Given the description of an element on the screen output the (x, y) to click on. 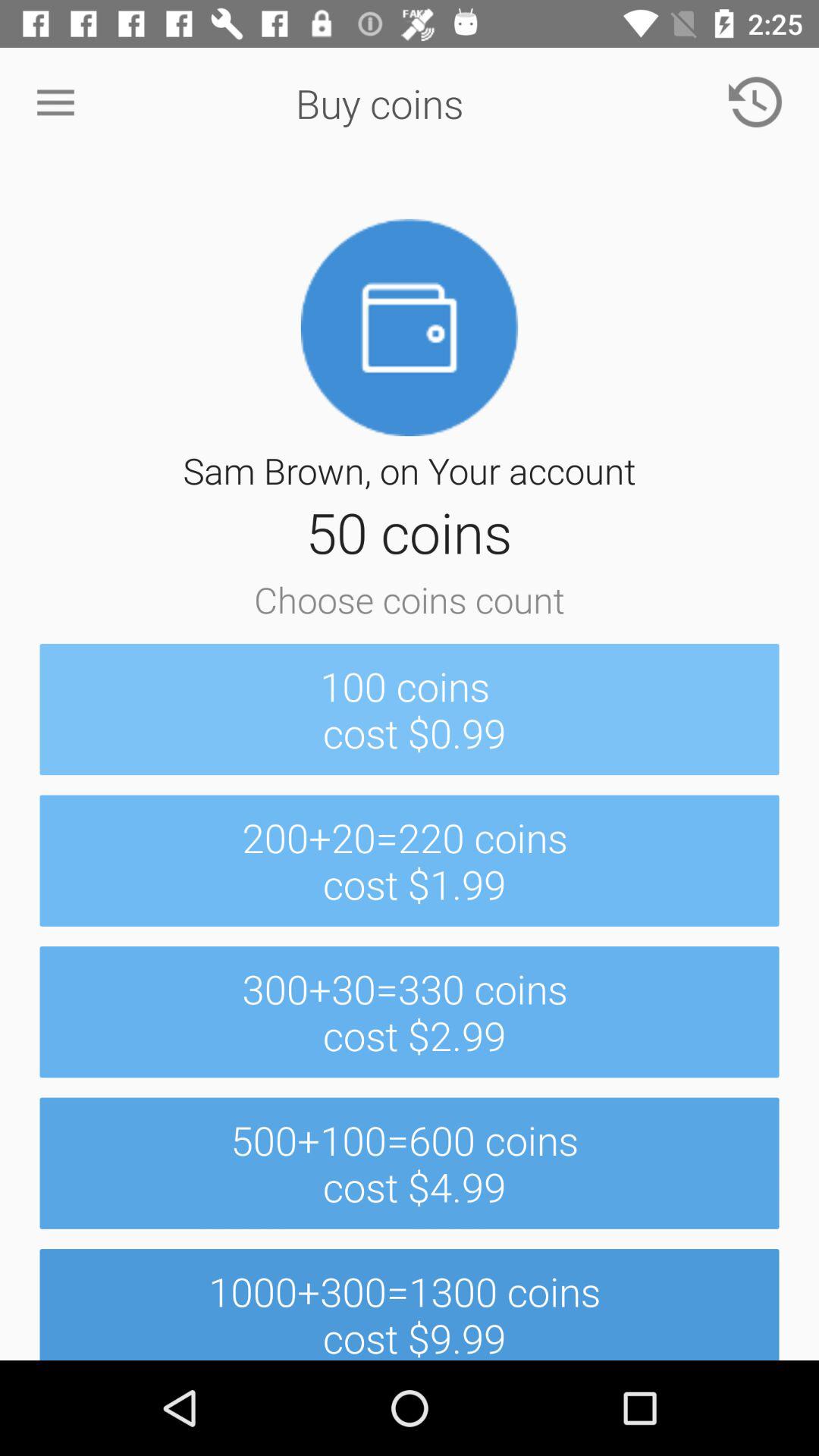
scroll to the 300 30 330 icon (409, 1011)
